Given the description of an element on the screen output the (x, y) to click on. 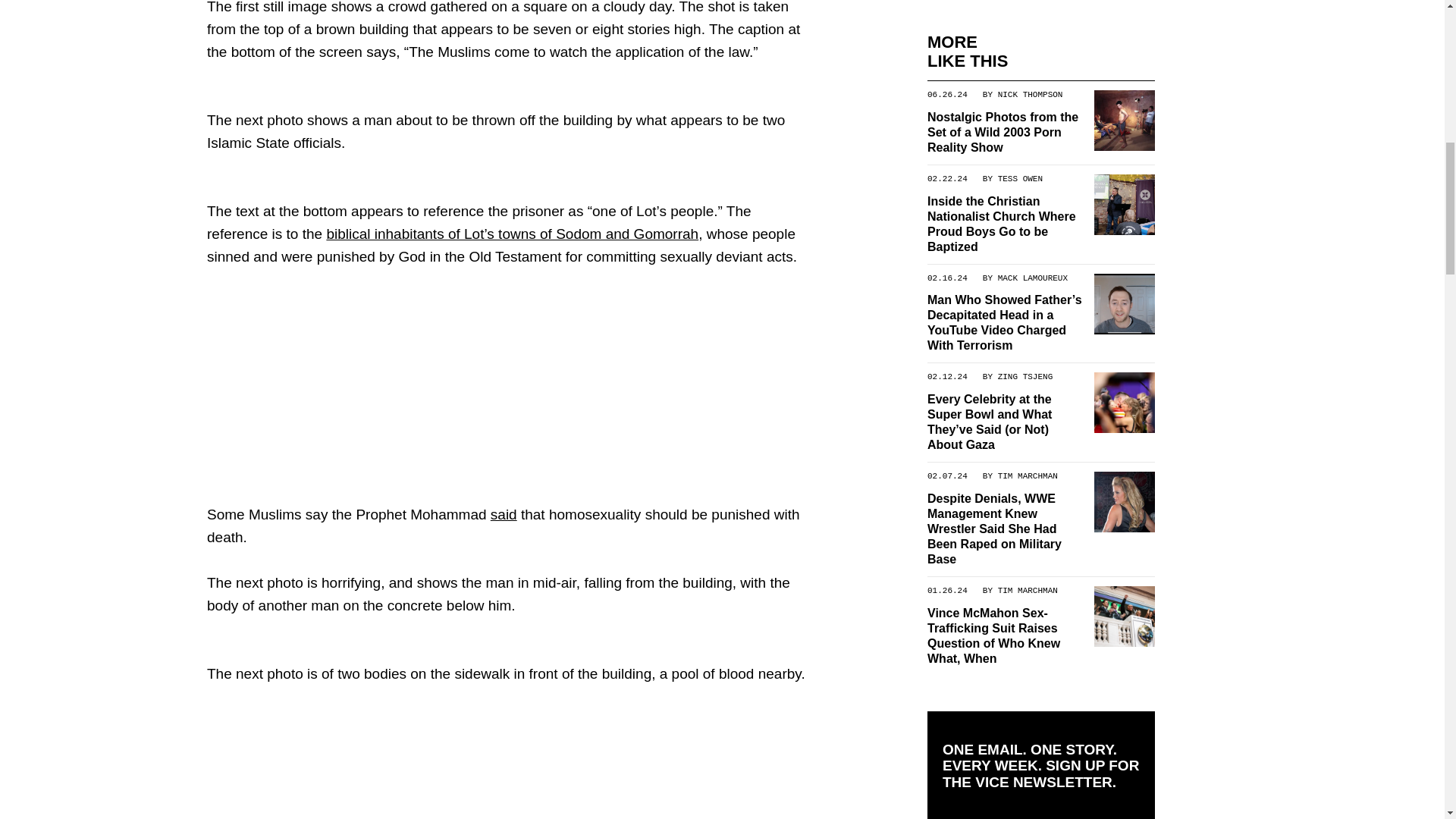
Posts by Tim Marchman (1027, 474)
Posts by Nick Thompson (1029, 93)
Posts by Tess Owen (1019, 177)
Posts by Mack Lamoureux (1032, 276)
Posts by Zing Tsjeng (1024, 376)
Posts by Tim Marchman (1027, 589)
Newsletter Signup Form (1040, 812)
